Given the description of an element on the screen output the (x, y) to click on. 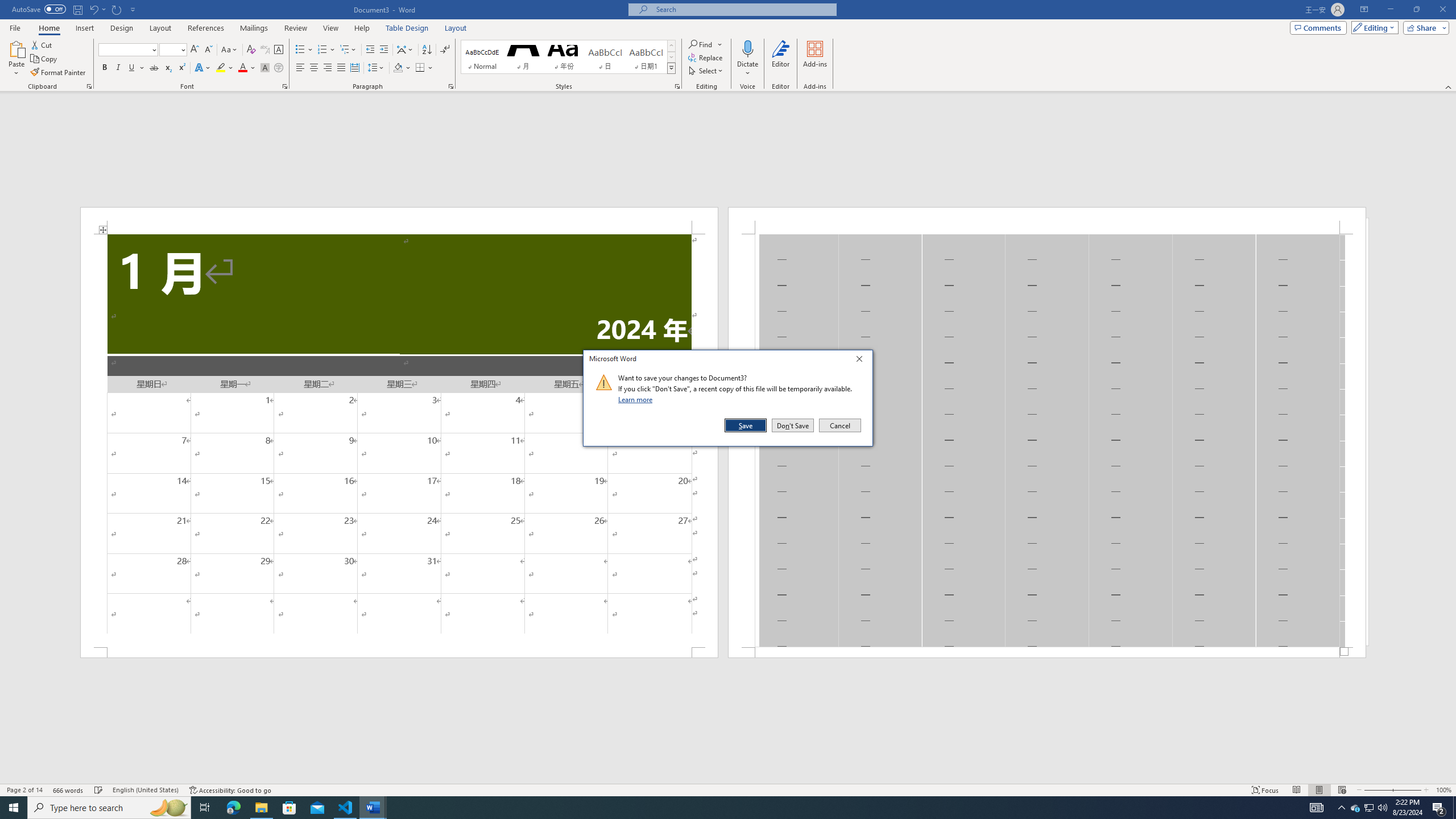
Cut (42, 44)
Format Painter (58, 72)
Center (313, 67)
Copy (45, 58)
Font Color RGB(255, 0, 0) (241, 67)
Text Effects and Typography (202, 67)
Line and Paragraph Spacing (376, 67)
